Given the description of an element on the screen output the (x, y) to click on. 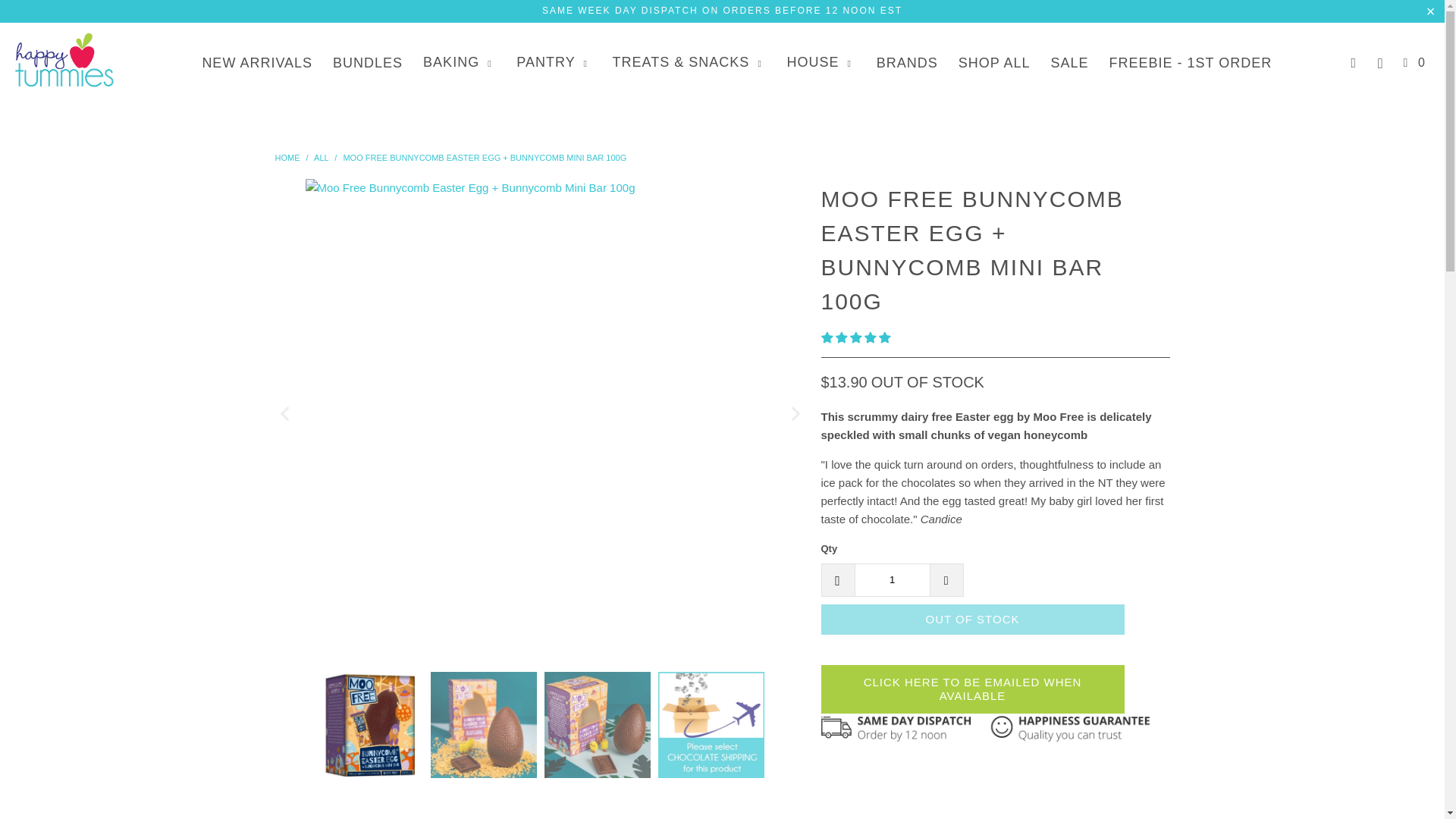
Search (1380, 63)
My Account  (1353, 62)
Happy Tummies Pty Ltd (63, 62)
All (321, 157)
1 (891, 580)
Happy Tummies Pty Ltd (287, 157)
